Given the description of an element on the screen output the (x, y) to click on. 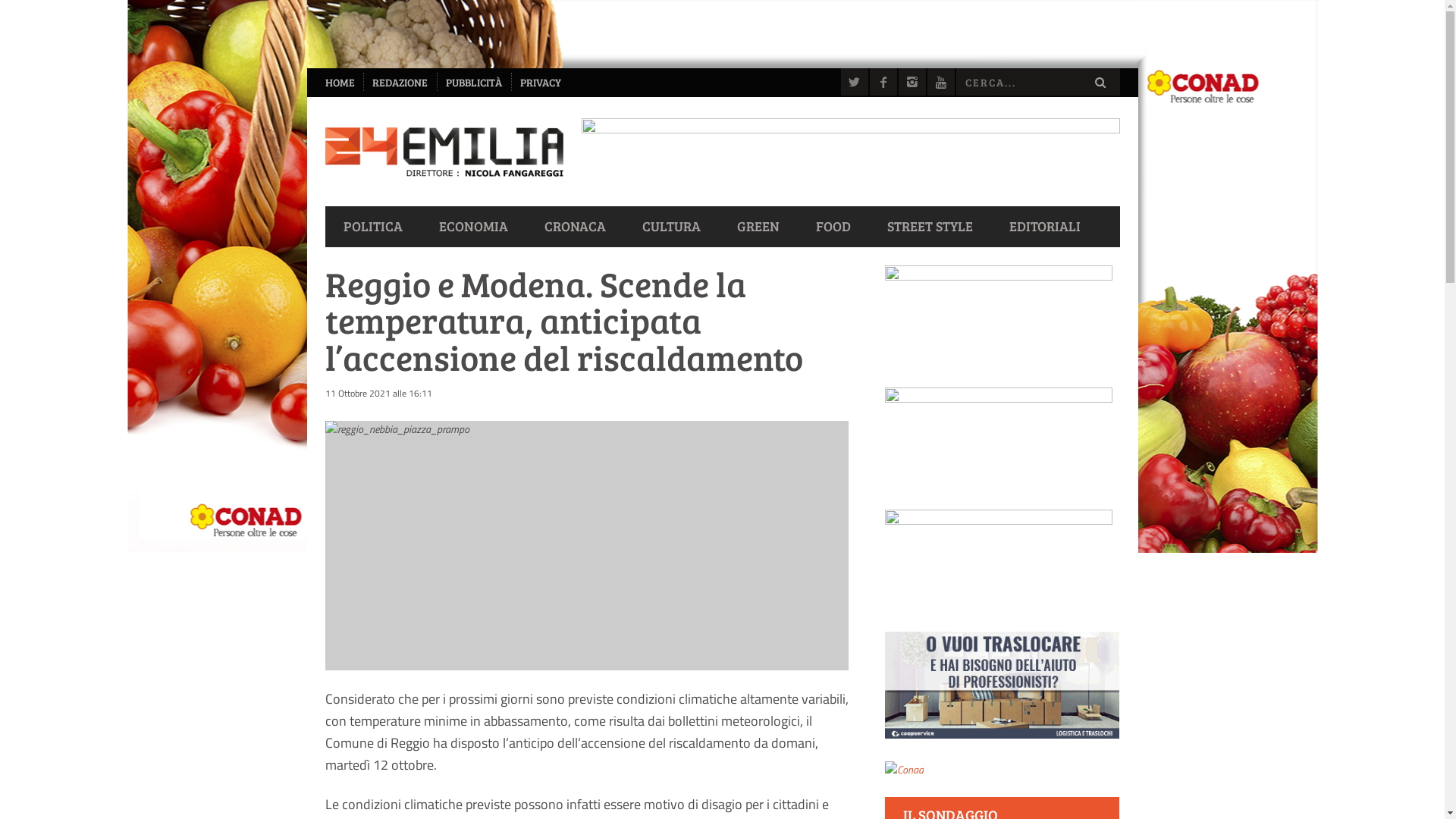
PRIVACY Element type: text (540, 82)
FOOD Element type: text (833, 226)
GREEN Element type: text (757, 226)
POLITICA Element type: text (372, 226)
Confcommercio Reggio Emilia Element type: hover (998, 561)
STREET STYLE Element type: text (930, 226)
CULTURA Element type: text (670, 226)
CRONACA Element type: text (575, 226)
HOME Element type: text (340, 82)
24Emilia Element type: hover (443, 151)
REDAZIONE Element type: text (399, 82)
ECONOMIA Element type: text (472, 226)
EDITORIALI Element type: text (1044, 226)
